Given the description of an element on the screen output the (x, y) to click on. 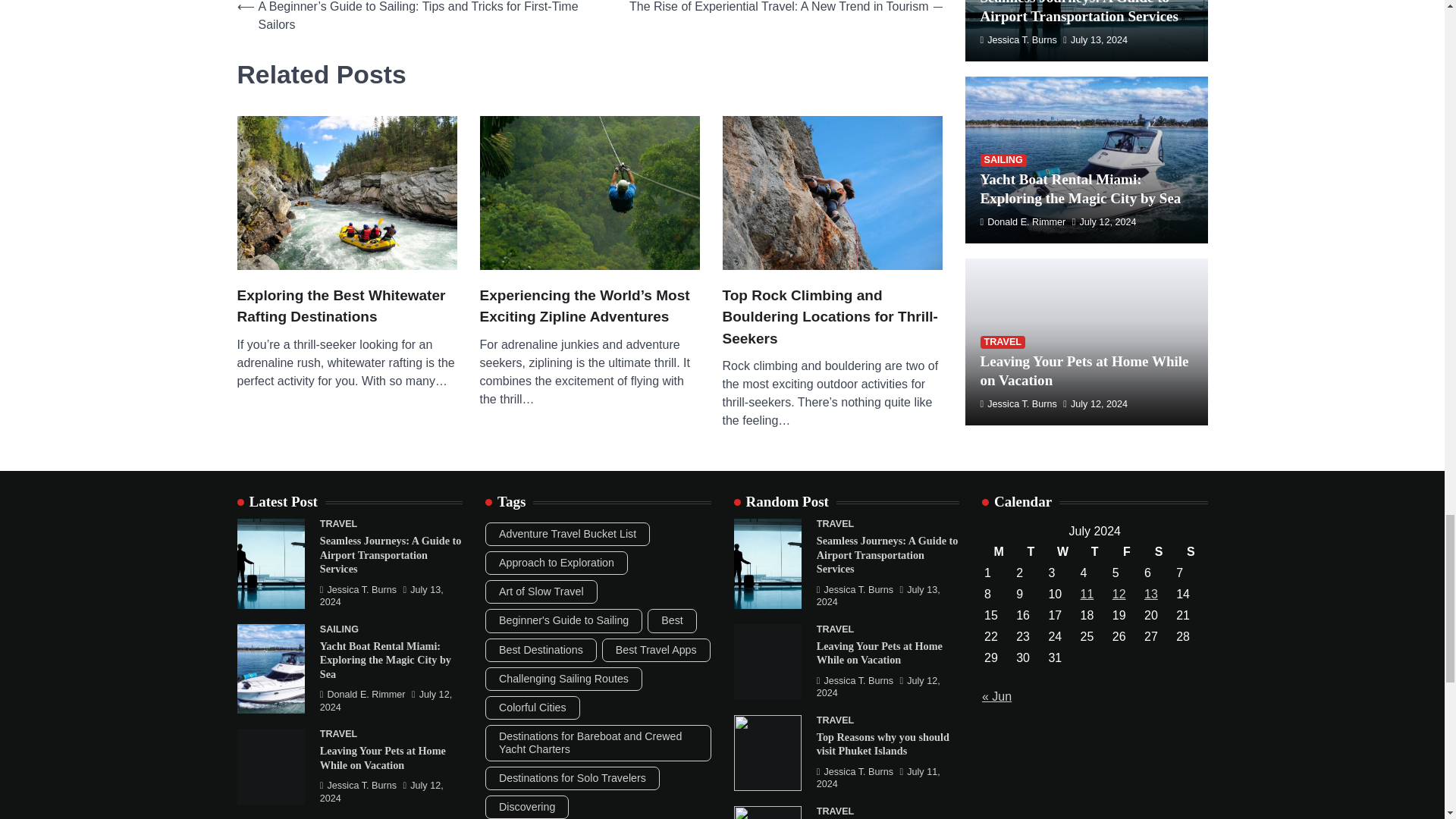
Sunday (1189, 551)
Exploring the Best Whitewater Rafting Destinations (346, 306)
Friday (1126, 551)
Tuesday (1029, 551)
Monday (998, 551)
Wednesday (1061, 551)
Saturday (1157, 551)
Thursday (1094, 551)
